Given the description of an element on the screen output the (x, y) to click on. 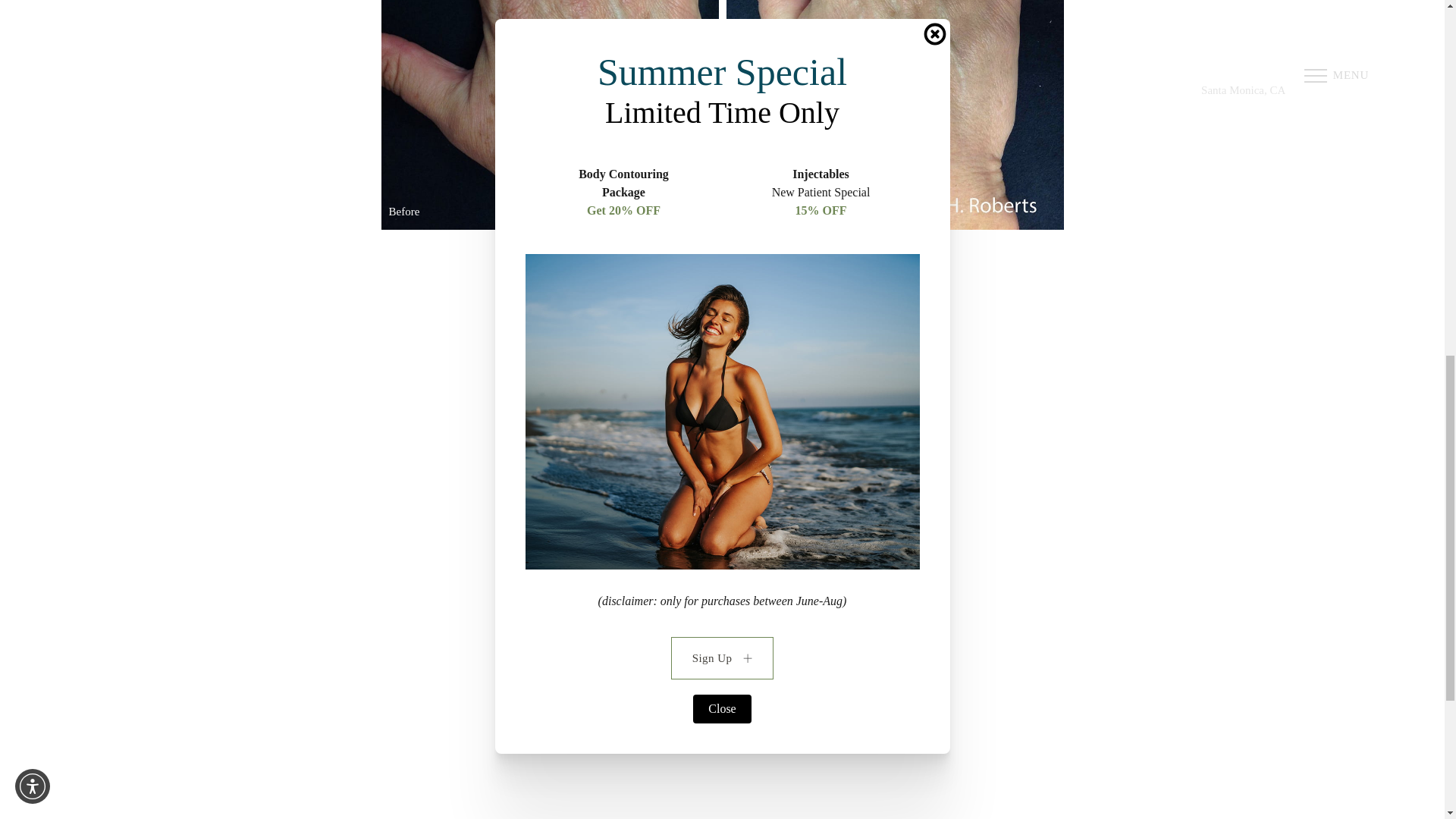
yes (756, 575)
